Given the description of an element on the screen output the (x, y) to click on. 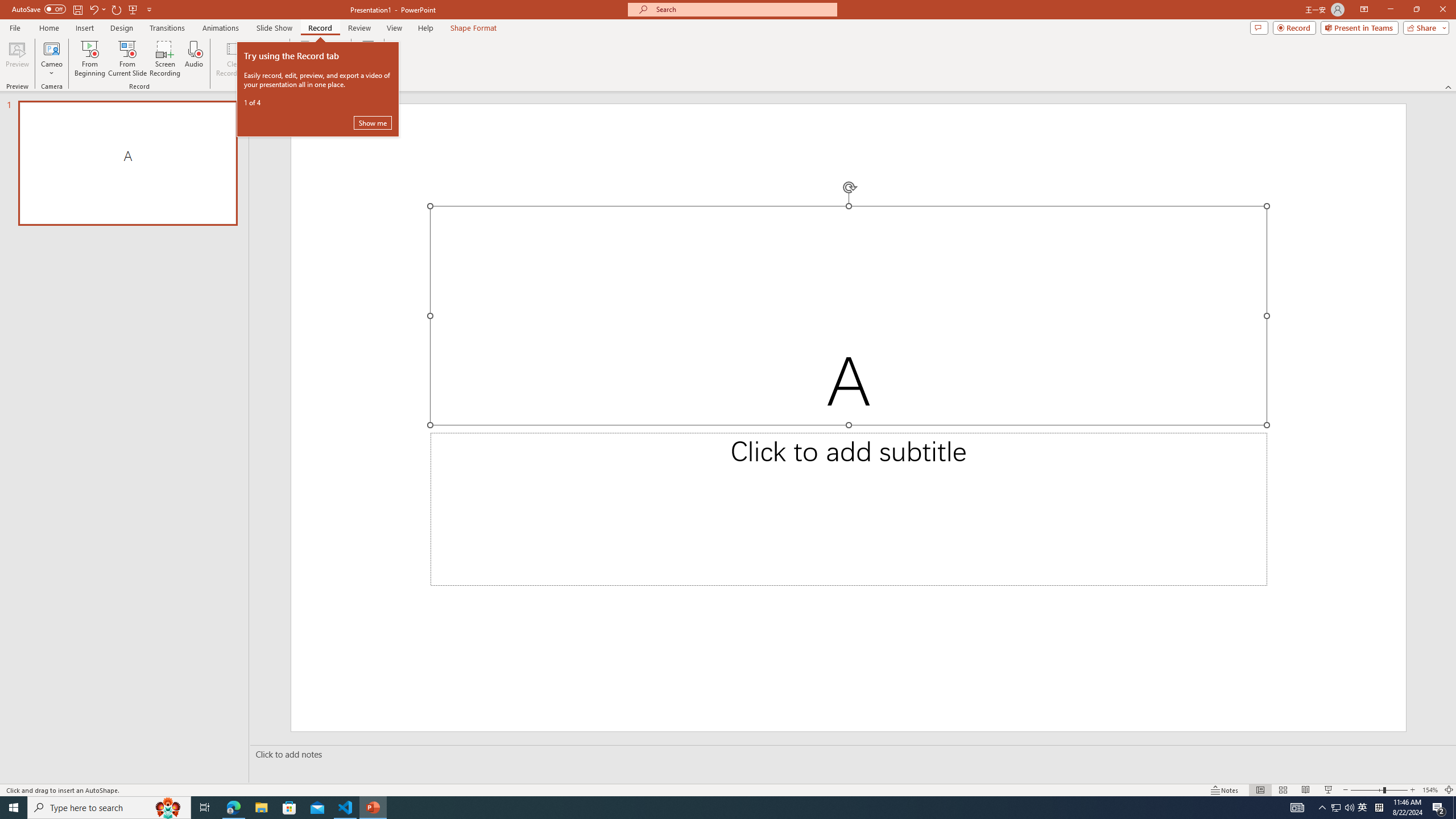
Reset to Cameo (269, 58)
From Beginning... (89, 58)
Audio (193, 58)
Learn More (368, 58)
Export to Video (332, 58)
